Given the description of an element on the screen output the (x, y) to click on. 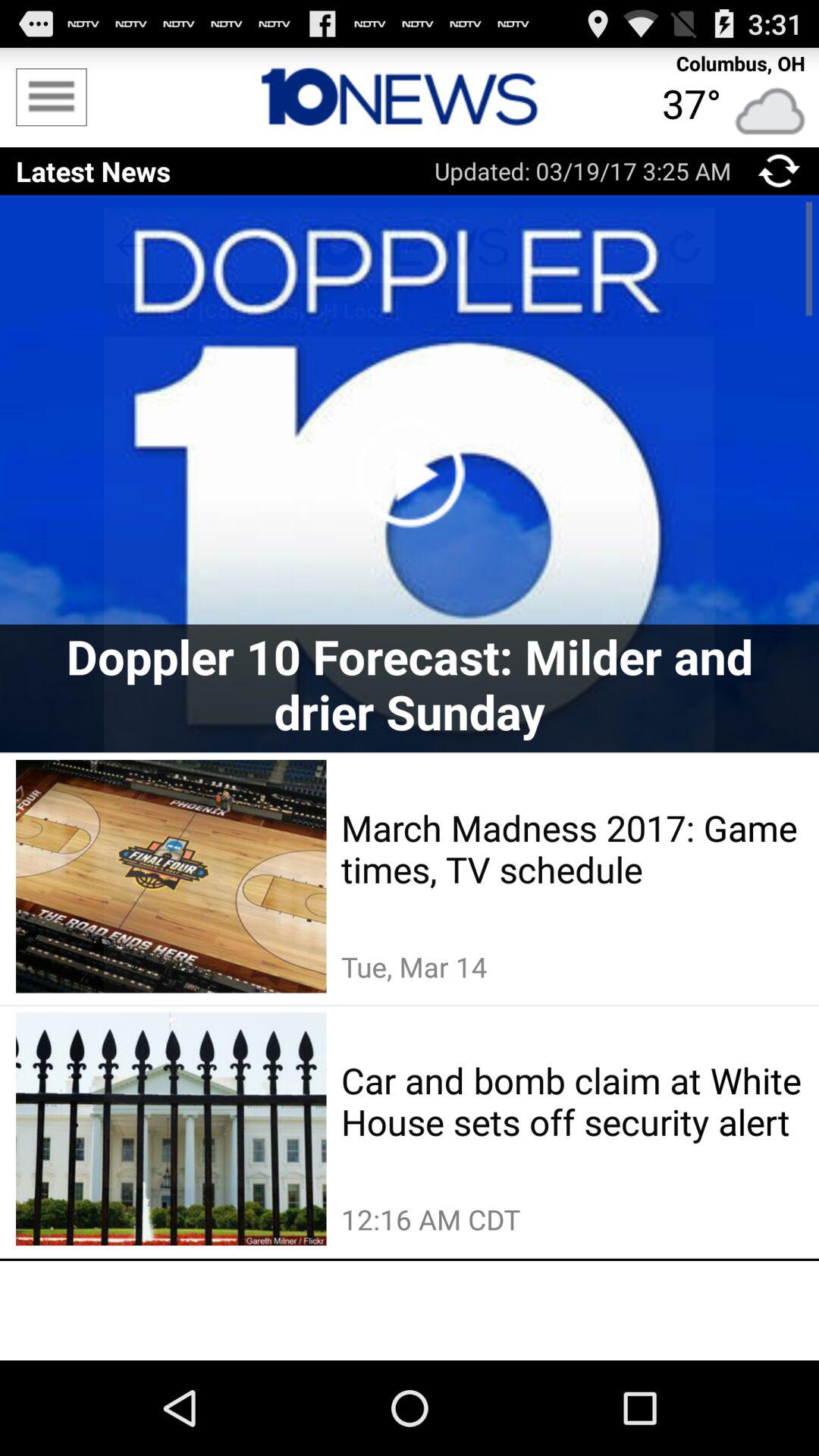
open menu (51, 97)
